Given the description of an element on the screen output the (x, y) to click on. 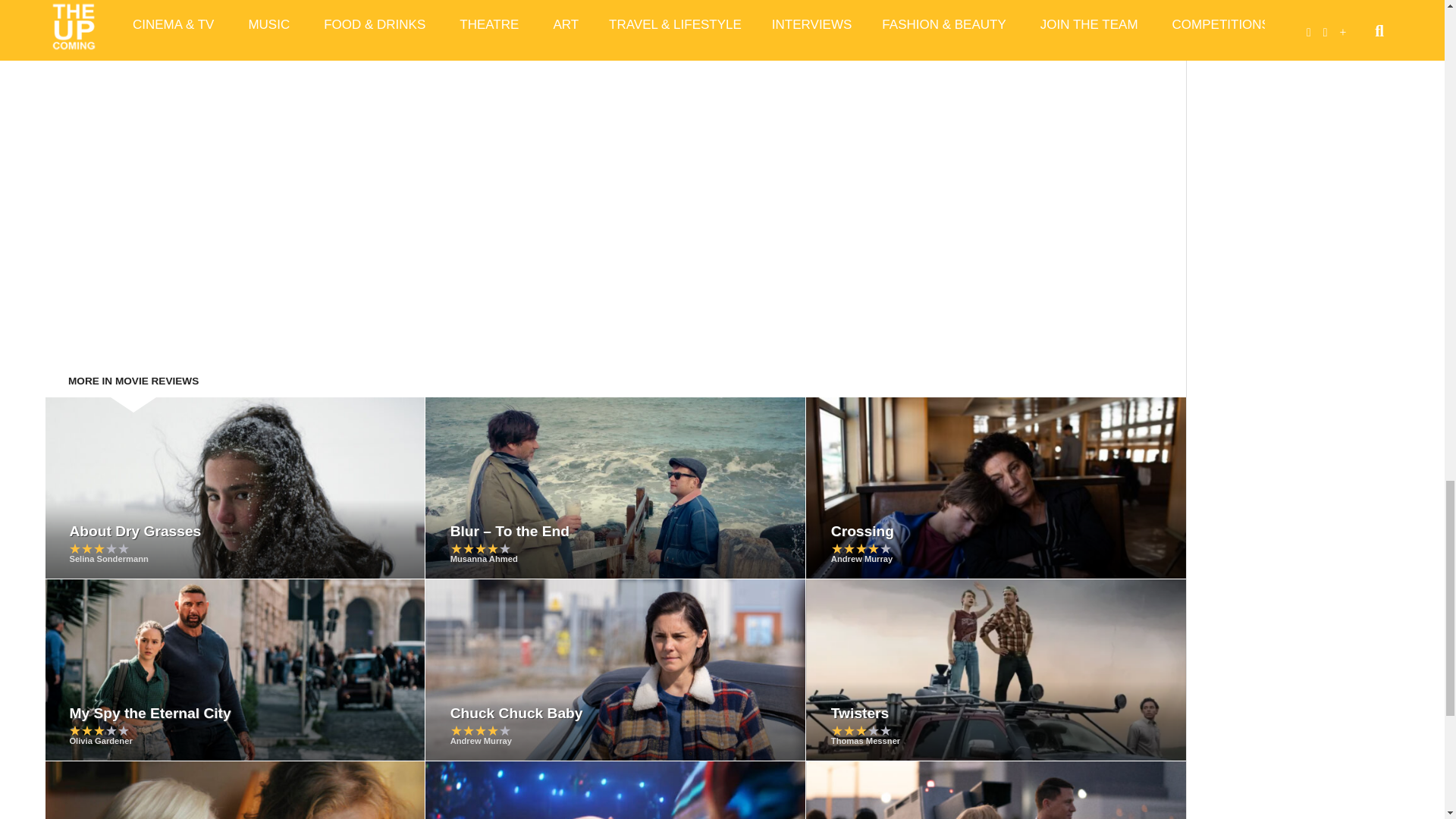
3 out of 5 stars (98, 548)
4 out of 5 stars (861, 548)
4 out of 5 stars (480, 548)
